Given the description of an element on the screen output the (x, y) to click on. 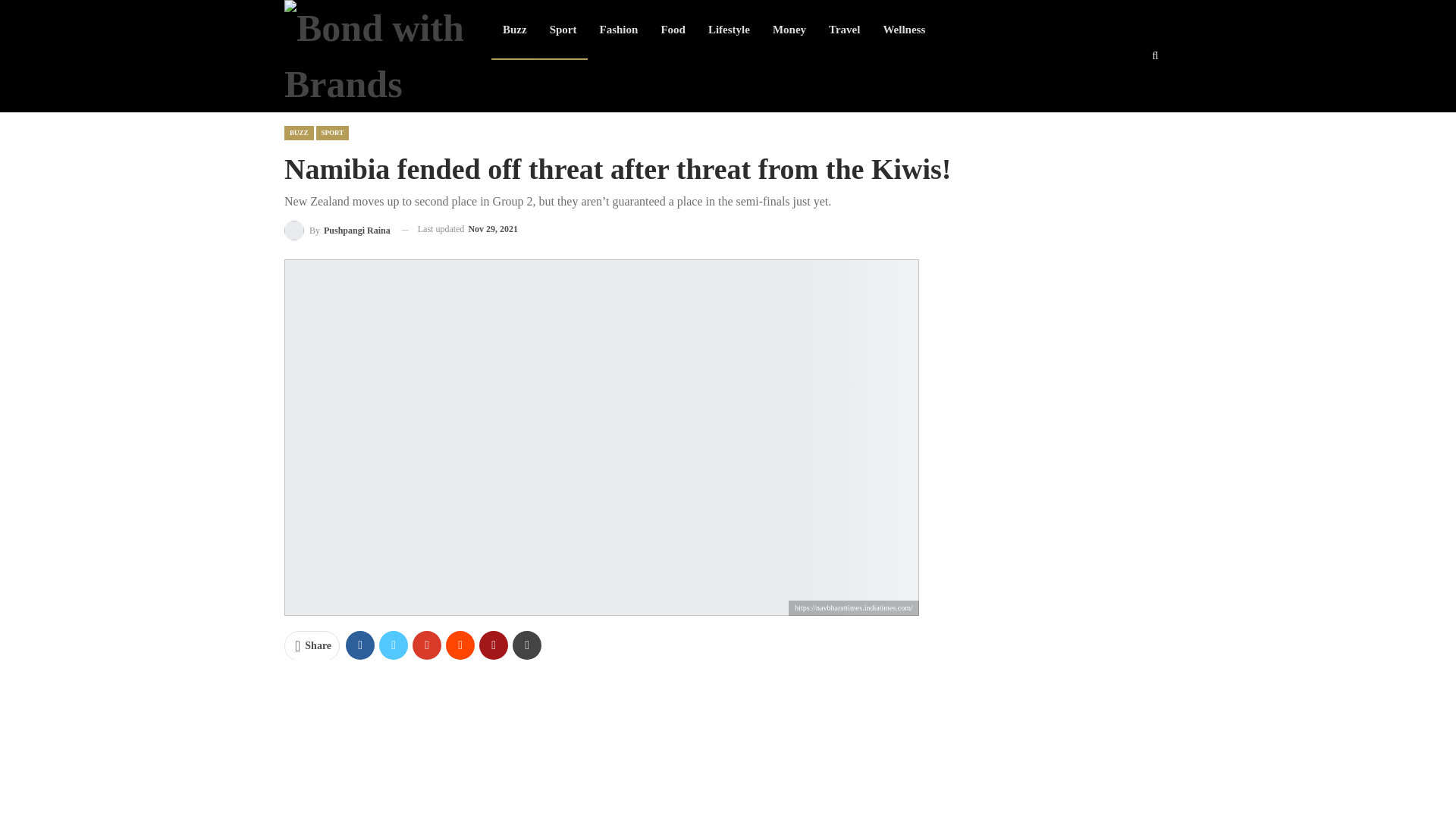
Fashion (618, 29)
Money (788, 29)
BUZZ (298, 133)
SPORT (332, 133)
Travel (843, 29)
Lifestyle (729, 29)
By Pushpangi Raina (336, 229)
Wellness (903, 29)
Browse Author Articles (336, 229)
